Given the description of an element on the screen output the (x, y) to click on. 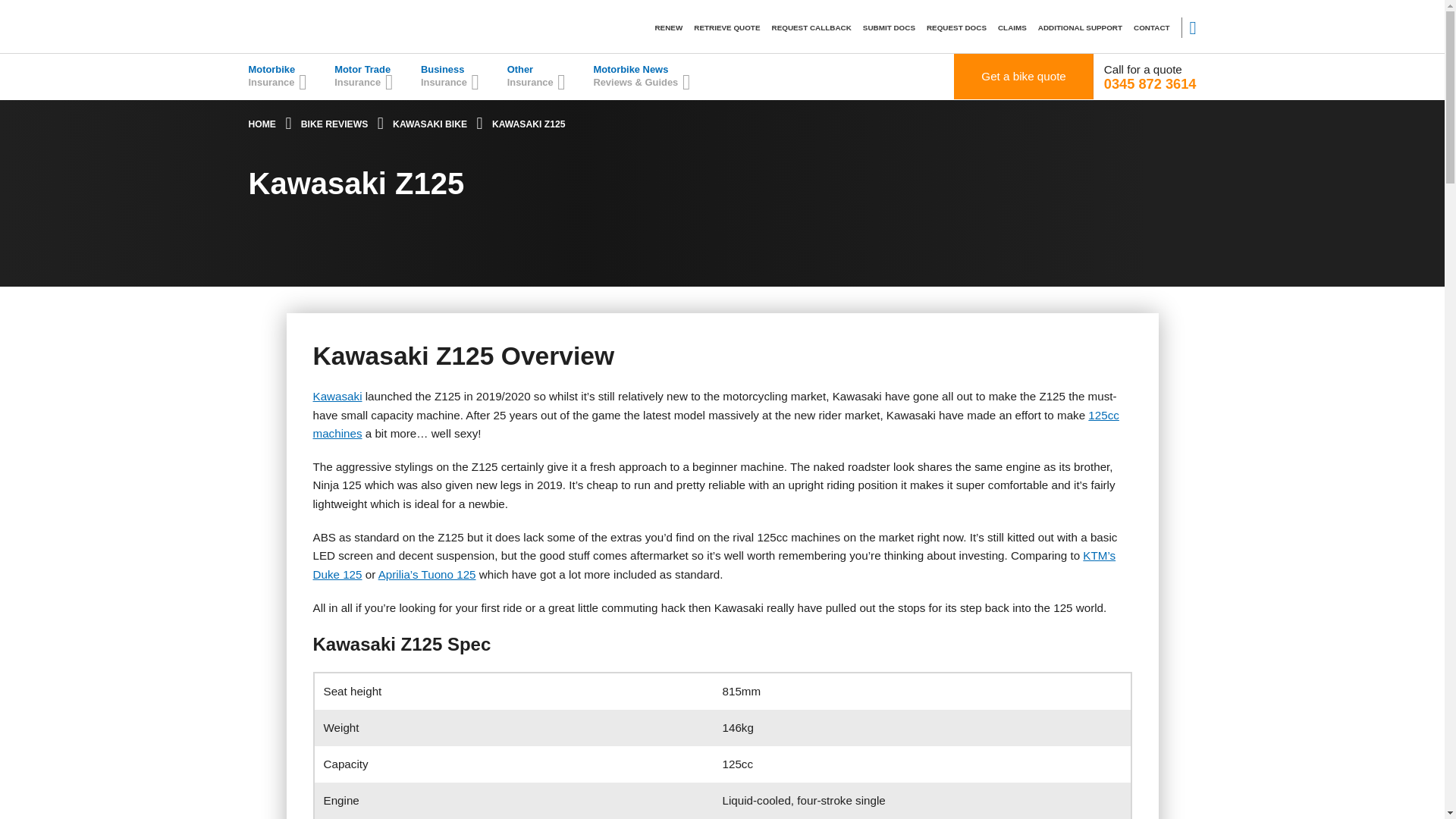
ADDITIONAL SUPPORT (1080, 27)
RETRIEVE QUOTE (727, 27)
Kawasaki Bike (430, 123)
REQUEST CALLBACK (811, 27)
REQUEST DOCS (956, 27)
Return to Devitt Insurance homepage (286, 26)
RENEW (667, 27)
Return to Devitt Insurance homepage (262, 123)
CLAIMS (1011, 27)
SUBMIT DOCS (889, 27)
